Given the description of an element on the screen output the (x, y) to click on. 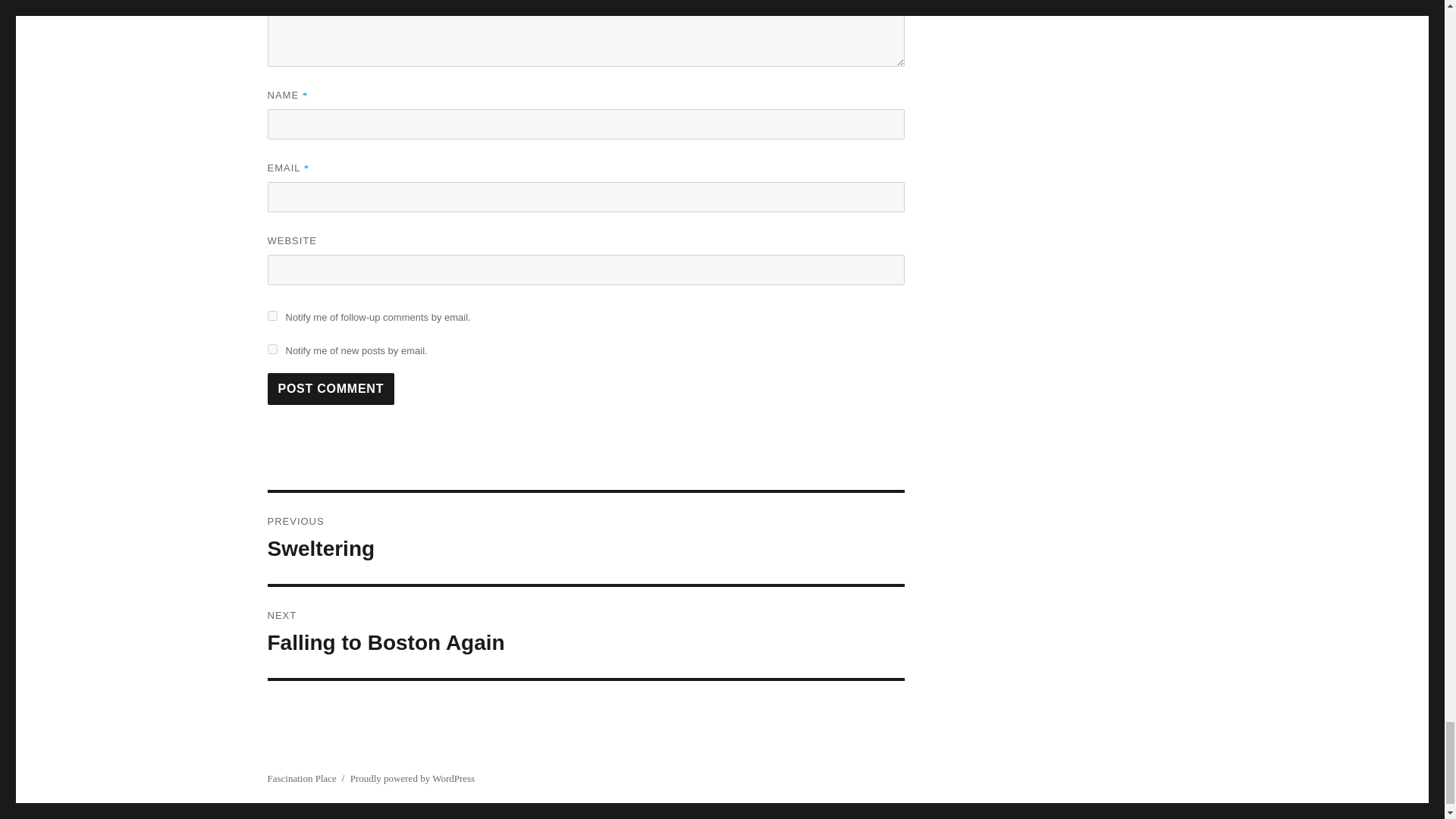
Post Comment (330, 388)
Post Comment (585, 538)
subscribe (330, 388)
subscribe (271, 316)
